Given the description of an element on the screen output the (x, y) to click on. 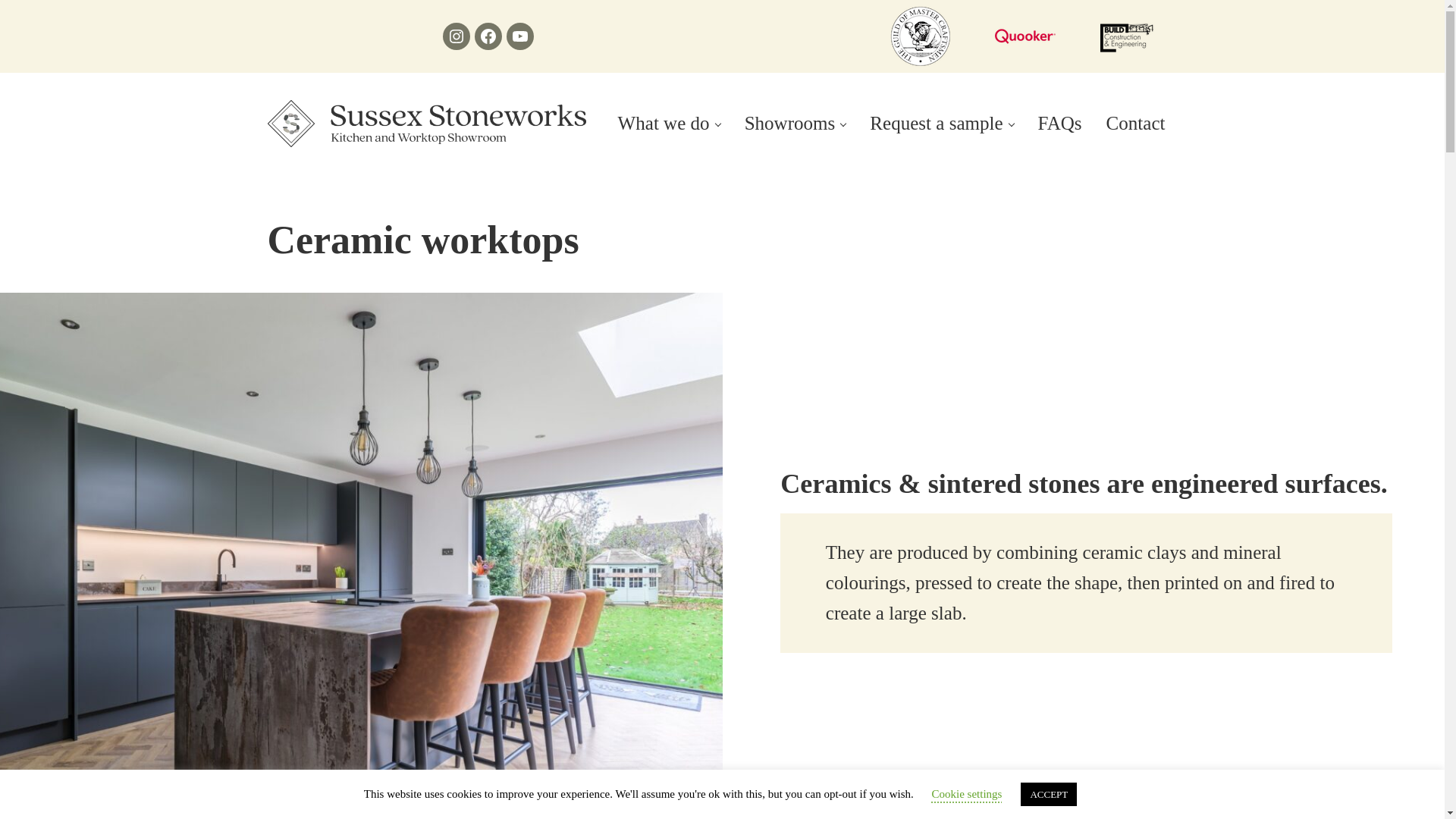
Contact (1135, 123)
Facebook (488, 35)
Quooker logo red transparent (1024, 35)
Showrooms (795, 123)
What we do (668, 123)
FAQs (1060, 123)
Instagram (456, 35)
YouTube (520, 35)
The Guild Of Master Craftsmen (919, 35)
